Given the description of an element on the screen output the (x, y) to click on. 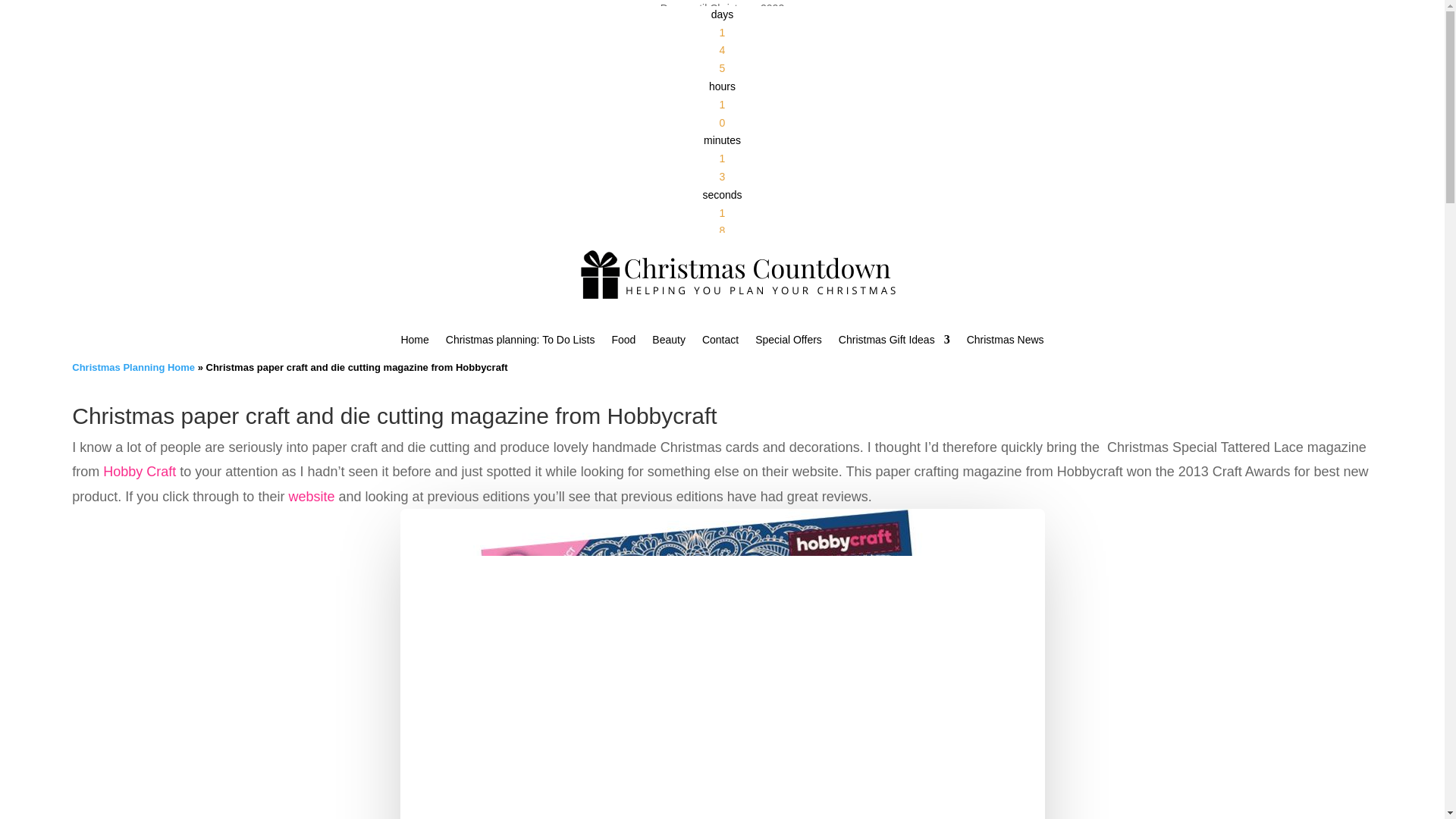
Christmas News (1004, 342)
Christmas planning: To Do Lists (520, 342)
Contact me (719, 342)
Christmas news and events (1004, 342)
Special Offers (788, 342)
Christmas Planning Home (133, 367)
Christmas food and recipes  (622, 342)
Christmas Gift Ideas (894, 342)
website (311, 496)
Christmas Beauty tips (668, 342)
Beauty (668, 342)
Food (622, 342)
Contact (719, 342)
